Given the description of an element on the screen output the (x, y) to click on. 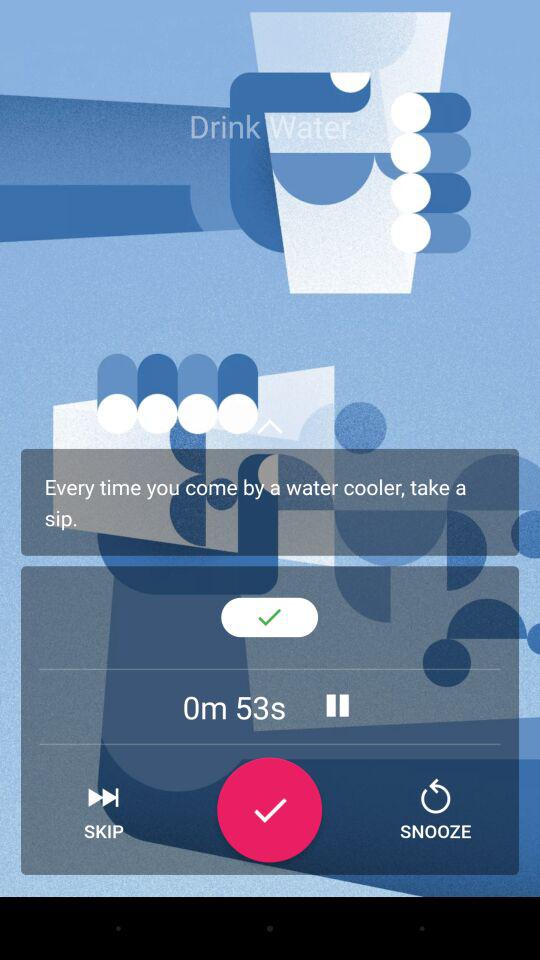
click the option snooze (435, 810)
click on upward arrow (269, 425)
click on pause button (337, 705)
click on the right icon (269, 810)
